Given the description of an element on the screen output the (x, y) to click on. 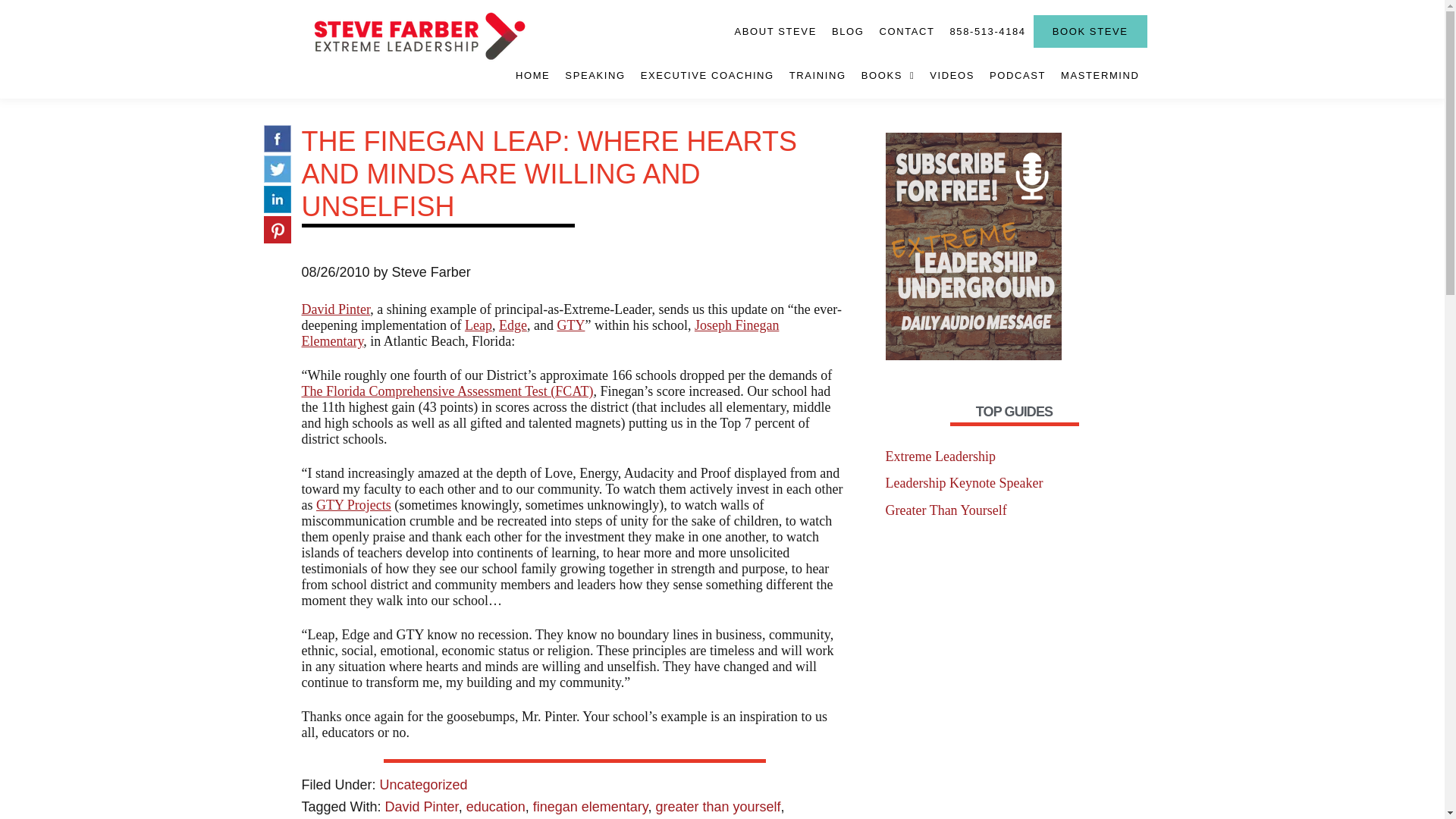
SPEAKING (594, 74)
TRAINING (817, 74)
858-513-4184 (987, 31)
finegan elementary (589, 806)
CONTACT (906, 31)
BLOG (848, 31)
Share on Pinterest (277, 230)
Leap (478, 324)
ABOUT STEVE (775, 31)
GTY (570, 324)
